Given the description of an element on the screen output the (x, y) to click on. 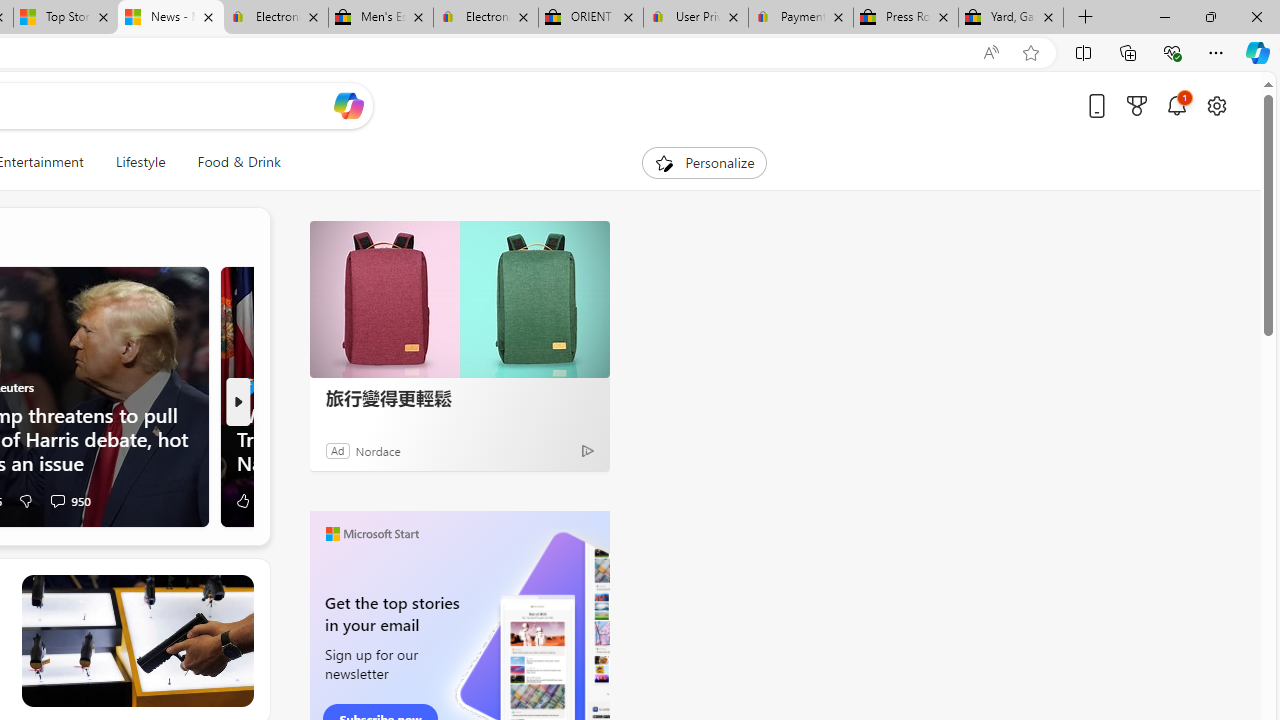
28 Like (251, 500)
Open settings (1216, 105)
